Given the description of an element on the screen output the (x, y) to click on. 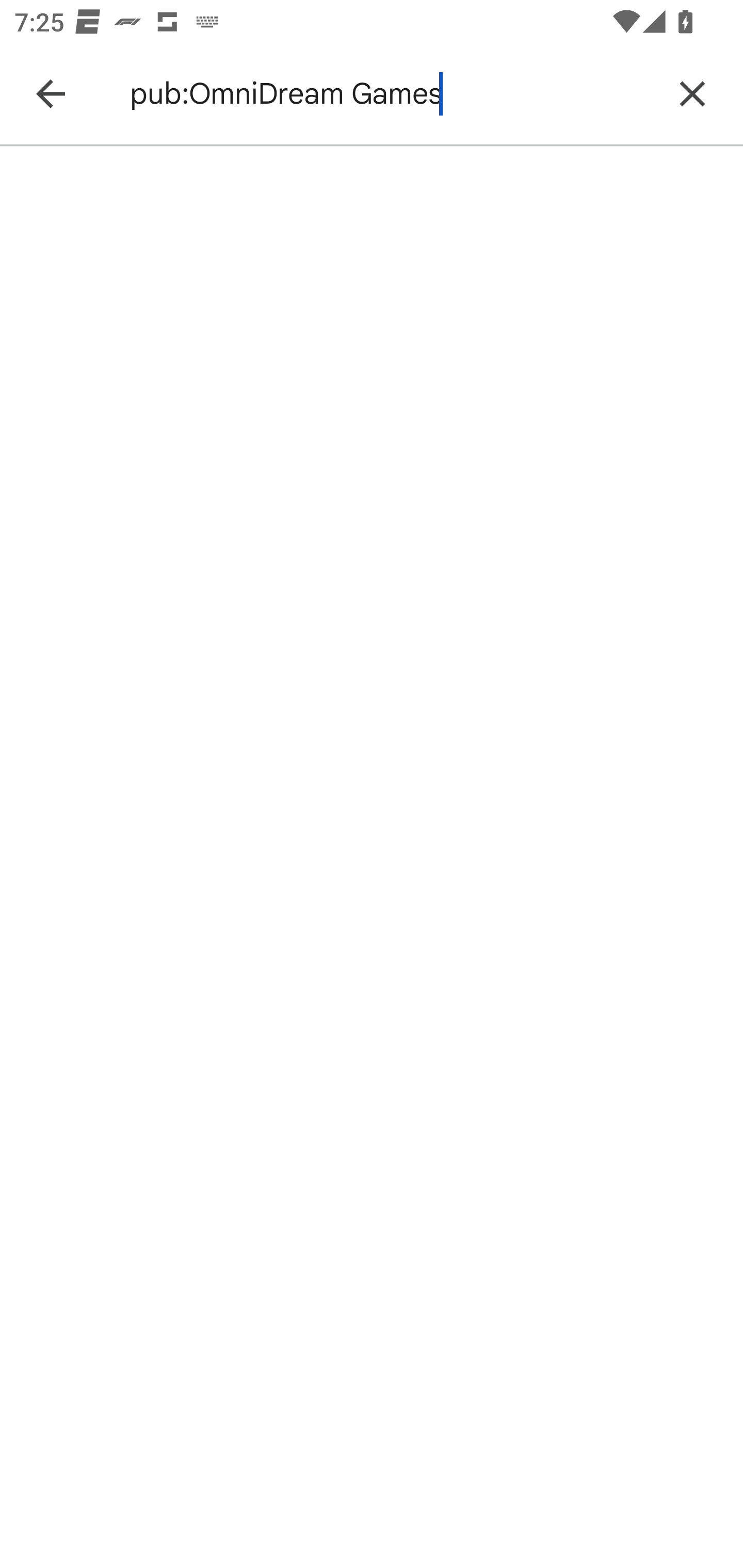
Navigate up (50, 93)
pub:OmniDream Games (389, 93)
Clear (692, 93)
